Given the description of an element on the screen output the (x, y) to click on. 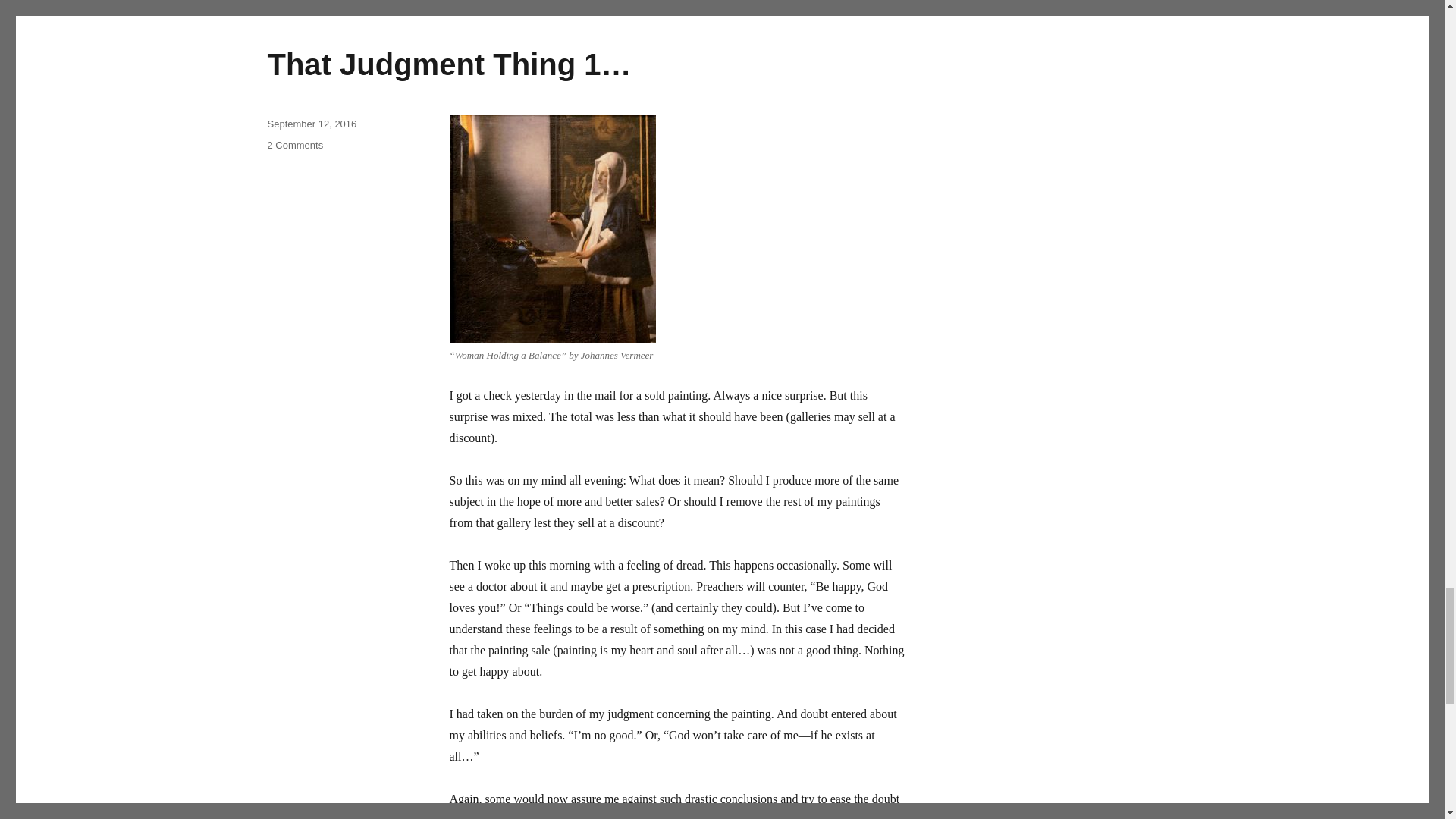
September 12, 2016 (311, 123)
